Given the description of an element on the screen output the (x, y) to click on. 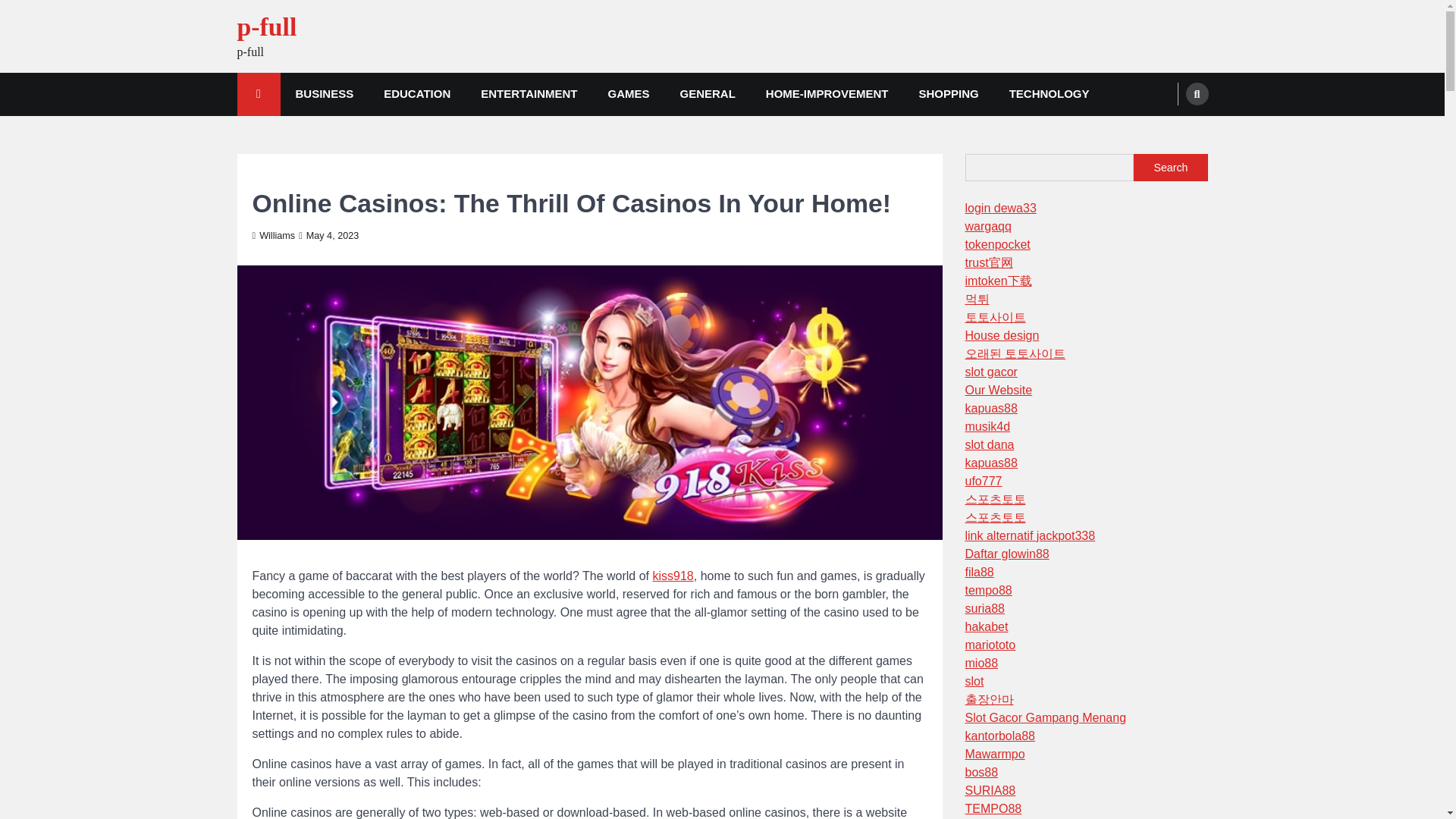
GAMES (627, 94)
slot gacor (989, 371)
TECHNOLOGY (1049, 94)
kapuas88 (989, 408)
Williams (273, 235)
GAMES (268, 174)
GENERAL (706, 94)
Search (1168, 129)
Our Website (997, 390)
Search (1170, 166)
p-full (266, 26)
May 4, 2023 (328, 235)
login dewa33 (999, 207)
House design (1001, 335)
wargaqq (986, 226)
